Given the description of an element on the screen output the (x, y) to click on. 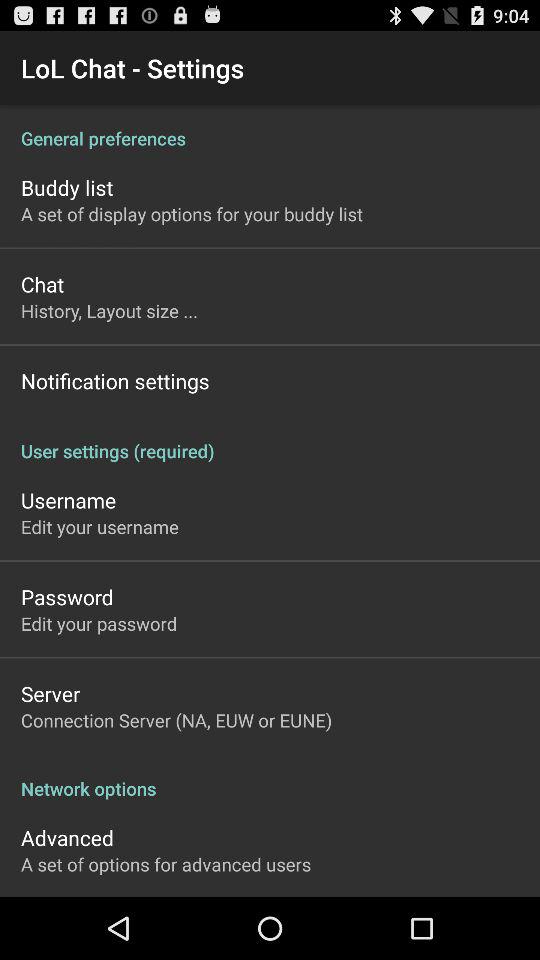
tap icon below the lol chat - settings icon (270, 127)
